Given the description of an element on the screen output the (x, y) to click on. 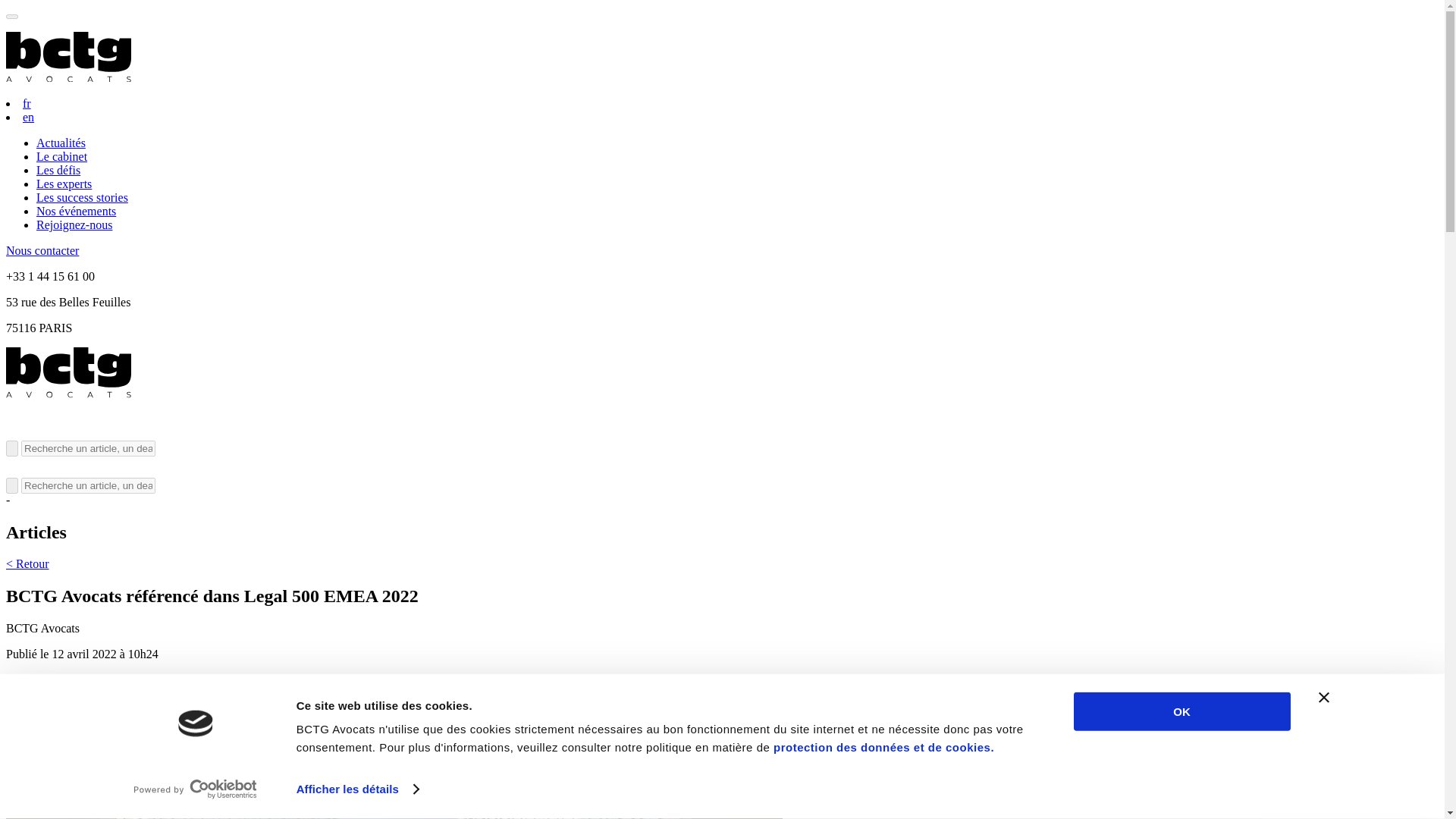
Open left Panel (11, 16)
OK (1182, 711)
